Given the description of an element on the screen output the (x, y) to click on. 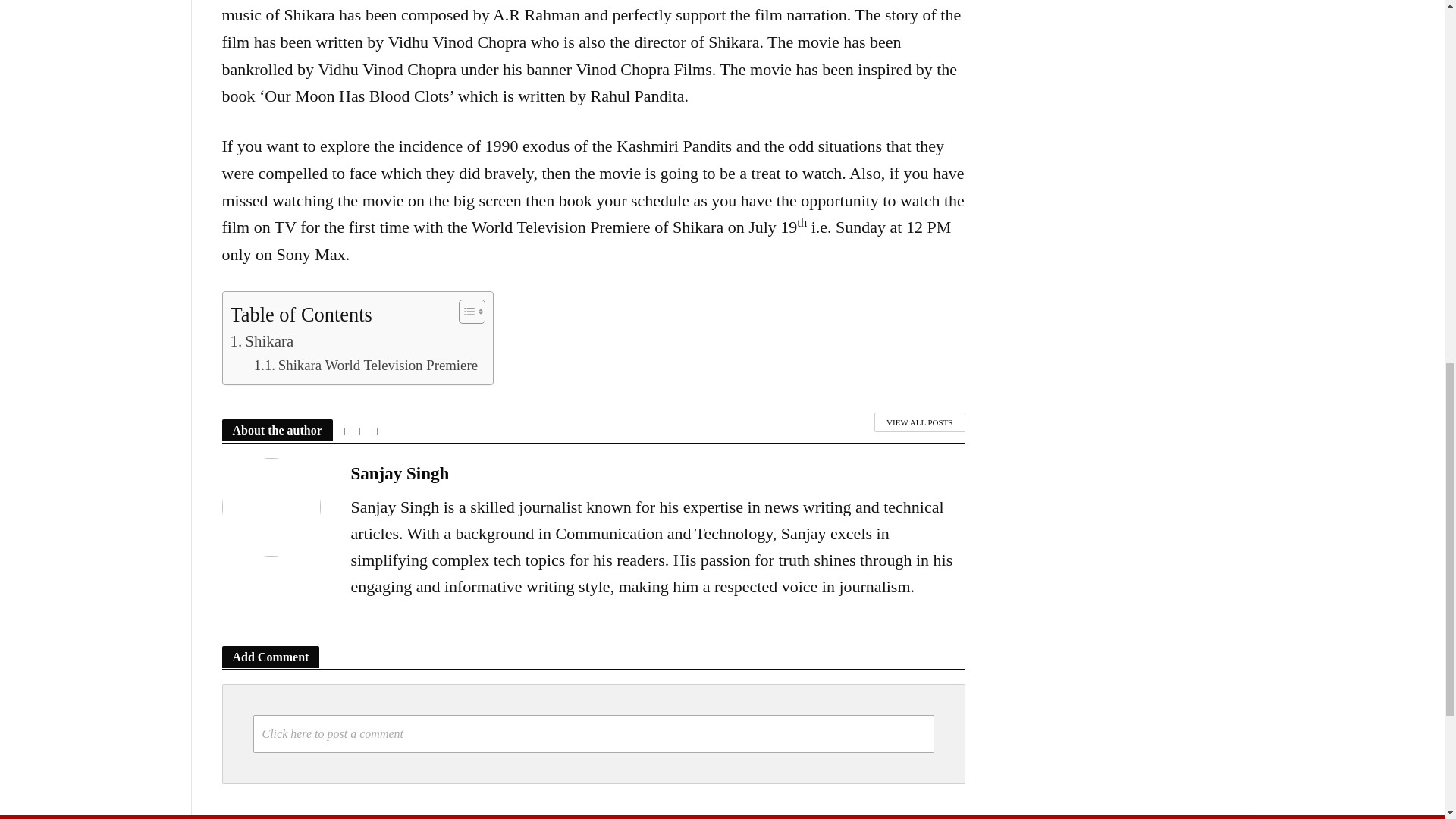
Shikara (262, 341)
Shikara World Television Premiere (365, 364)
